Given the description of an element on the screen output the (x, y) to click on. 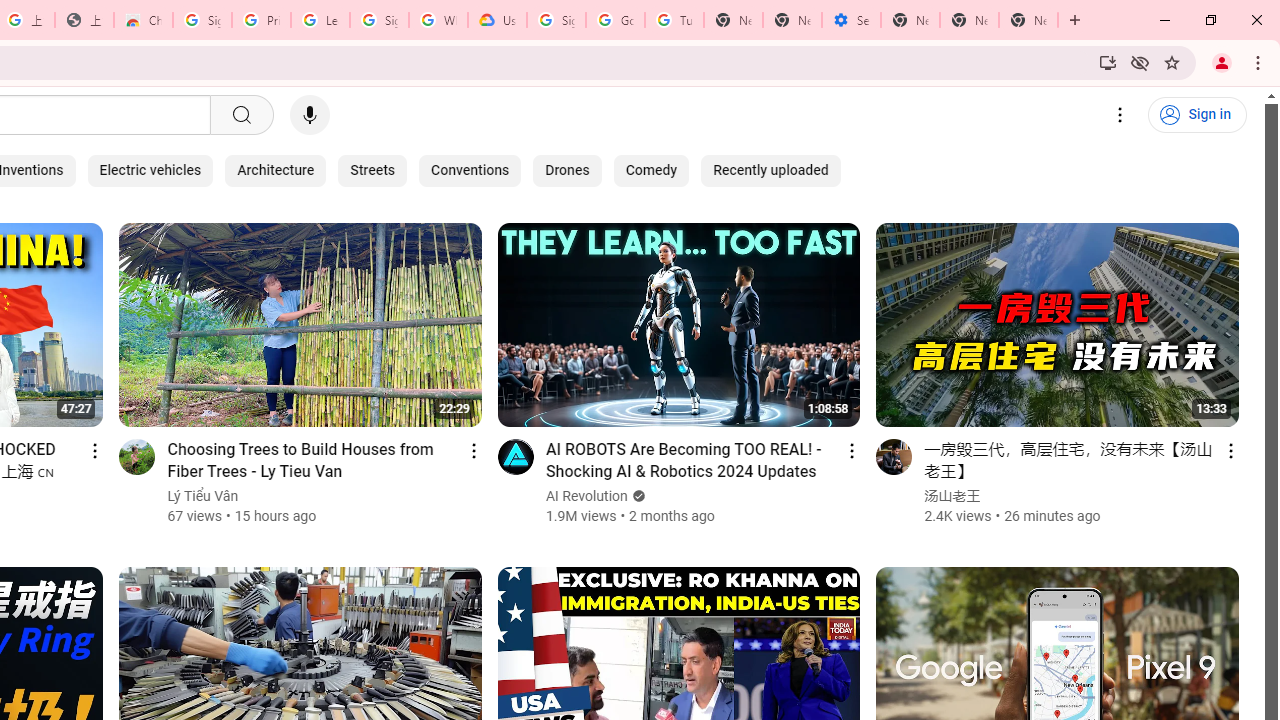
AI Revolution (587, 496)
Go to channel (893, 456)
New Tab (1028, 20)
Google Account Help (615, 20)
New Tab (909, 20)
